Given the description of an element on the screen output the (x, y) to click on. 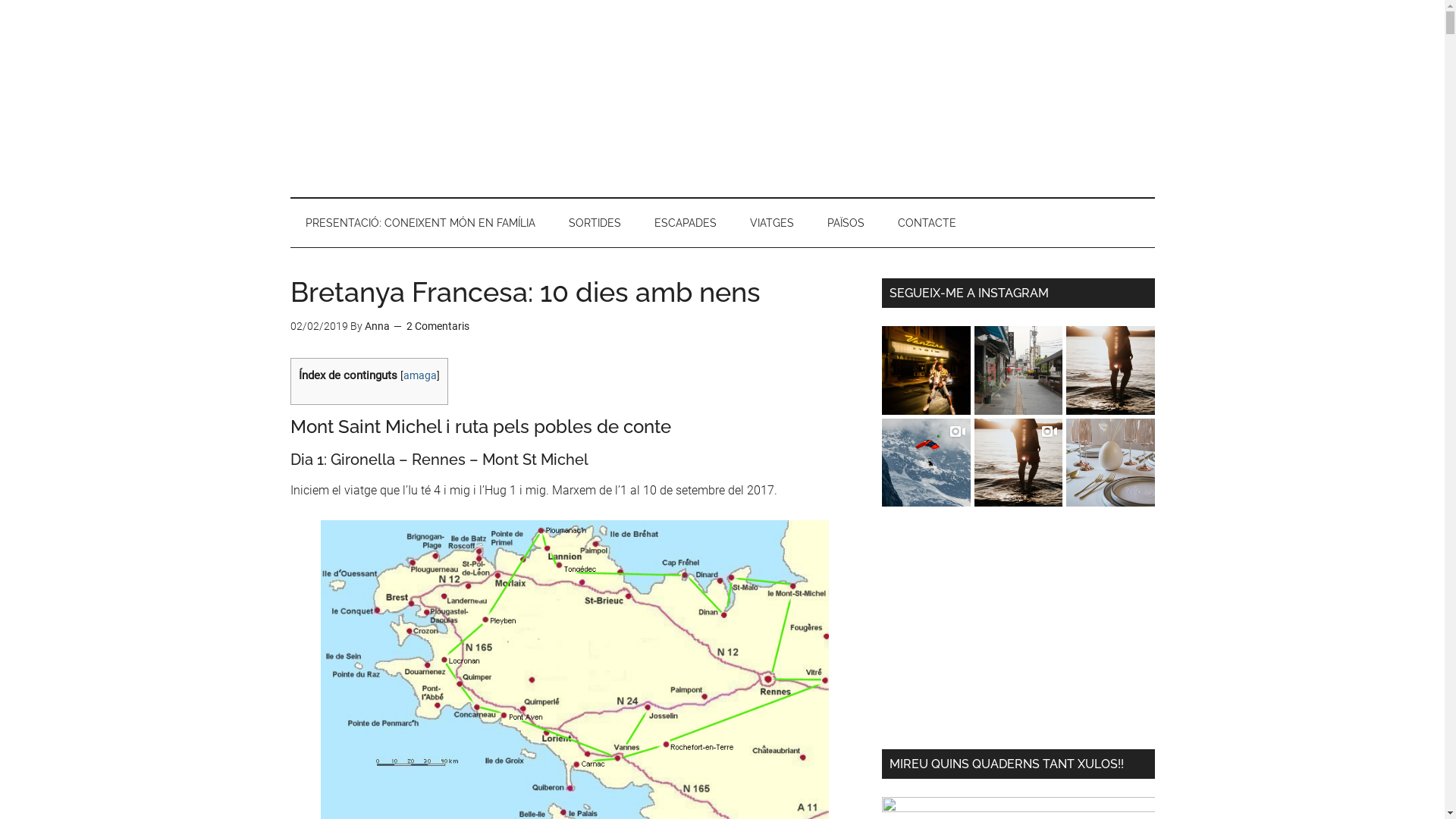
SORTIDES Element type: text (594, 222)
amaga Element type: text (419, 375)
2 Comentaris Element type: text (437, 326)
Skip to main content Element type: text (0, 0)
CONTACTE Element type: text (926, 222)
Anna Element type: text (376, 326)
Viatjar amb nens Element type: text (721, 98)
VIATGES Element type: text (771, 222)
ESCAPADES Element type: text (684, 222)
